Given the description of an element on the screen output the (x, y) to click on. 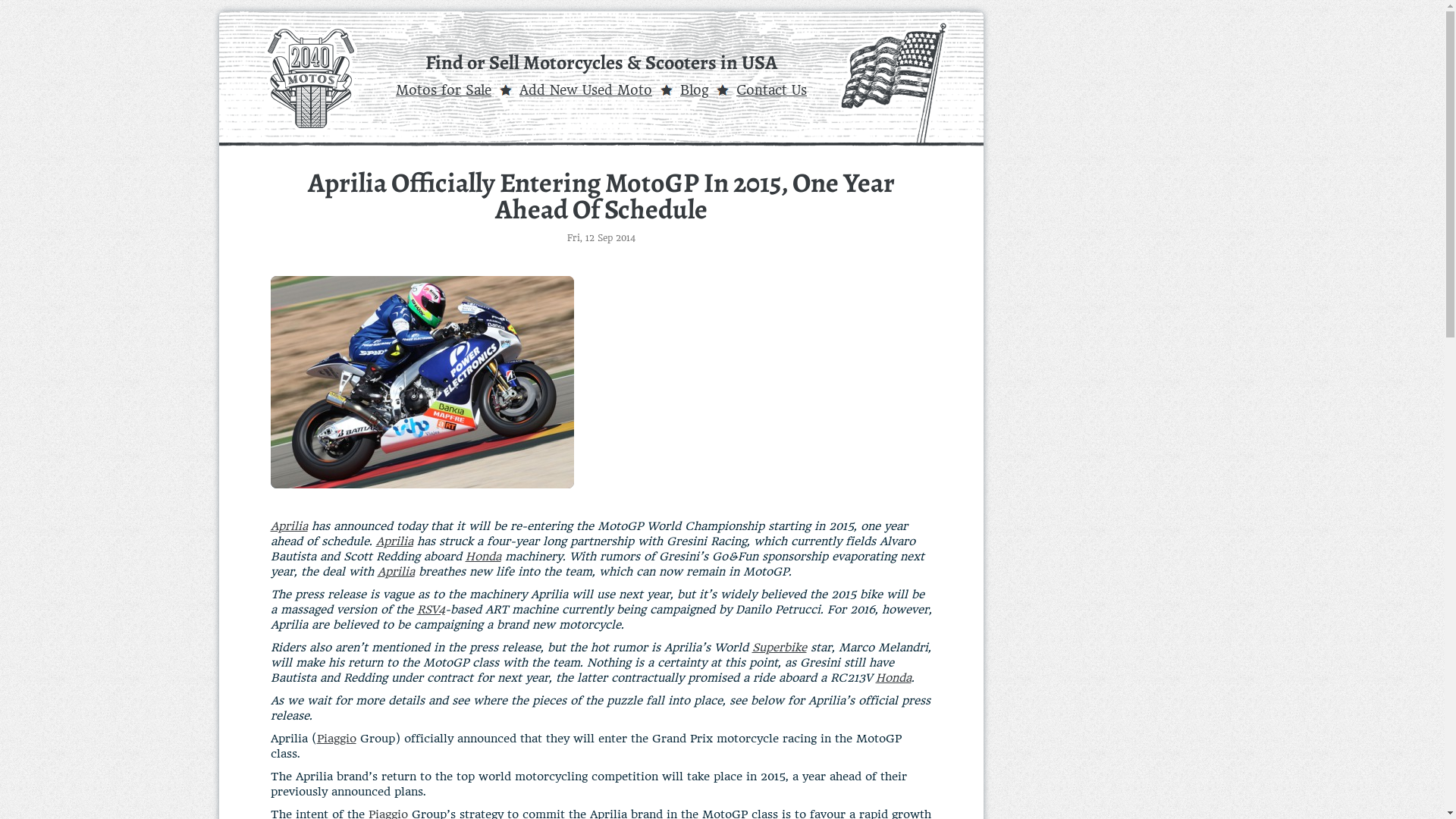
Superbike Element type: text (779, 647)
Aprilia Element type: text (288, 526)
Blog Element type: text (694, 89)
RSV4 Element type: text (431, 609)
Piaggio Element type: text (336, 738)
Contact Us Element type: text (771, 89)
Honda Element type: text (892, 677)
Honda Element type: text (483, 556)
Advertisement Element type: hover (751, 382)
Motos for Sale Element type: text (443, 89)
Add New Used Moto Element type: text (585, 89)
Aprilia Element type: text (395, 571)
Aprilia Element type: text (394, 541)
